Given the description of an element on the screen output the (x, y) to click on. 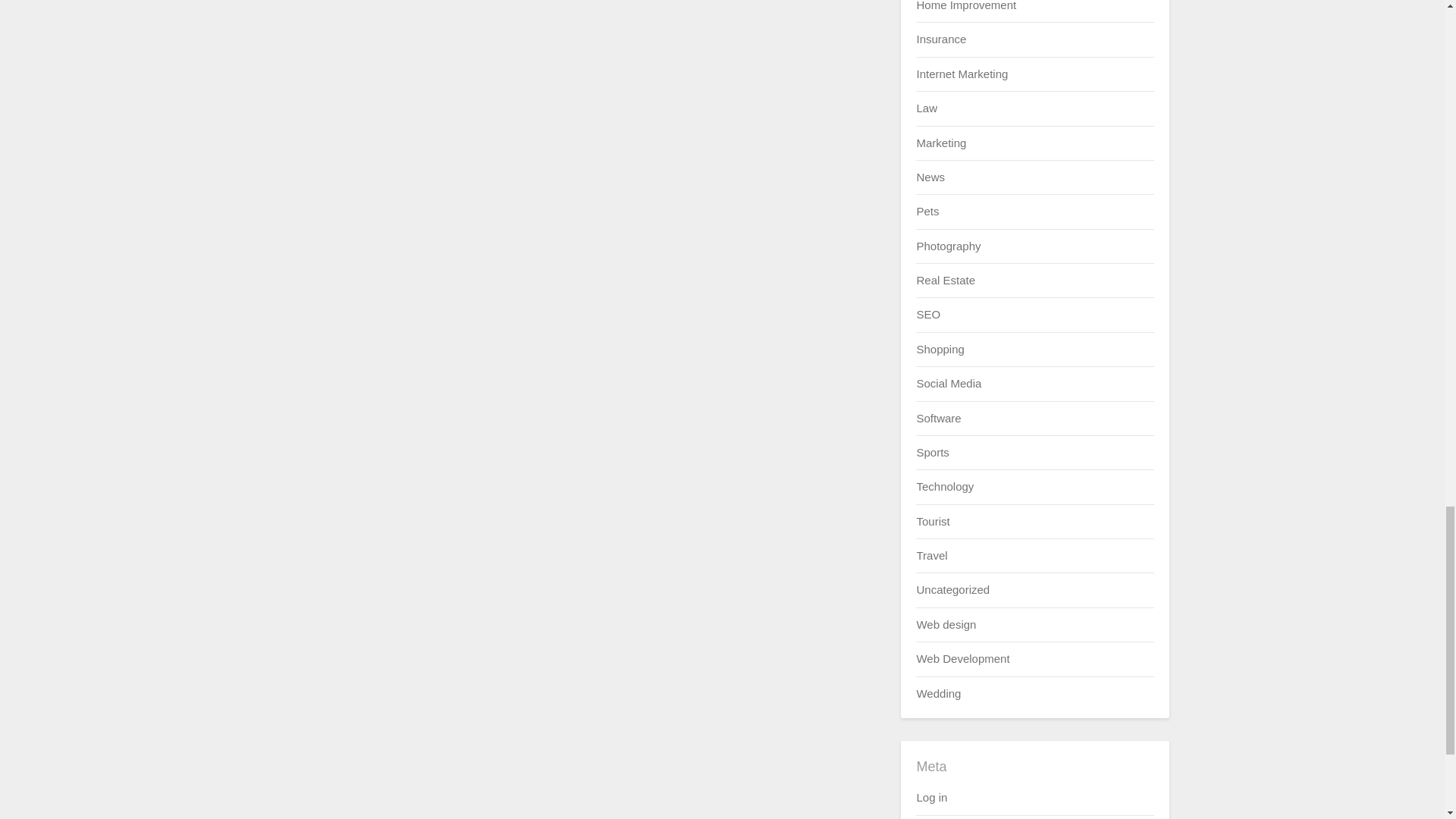
News (929, 176)
Internet Marketing (961, 73)
Home Improvement (965, 5)
Insurance (940, 38)
Law (926, 107)
Marketing (940, 142)
